Given the description of an element on the screen output the (x, y) to click on. 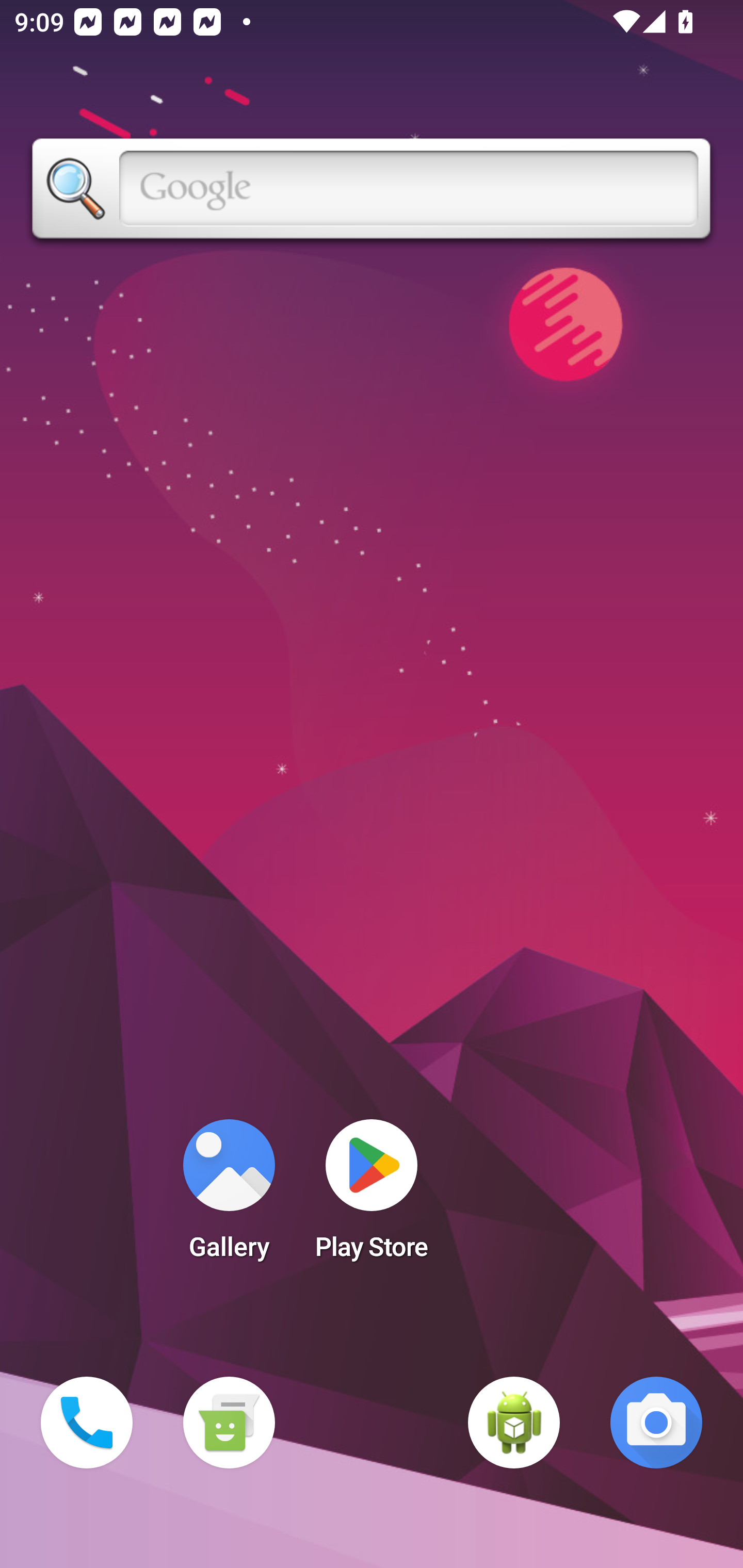
Gallery (228, 1195)
Play Store (371, 1195)
Phone (86, 1422)
Messaging (228, 1422)
WebView Browser Tester (513, 1422)
Camera (656, 1422)
